Given the description of an element on the screen output the (x, y) to click on. 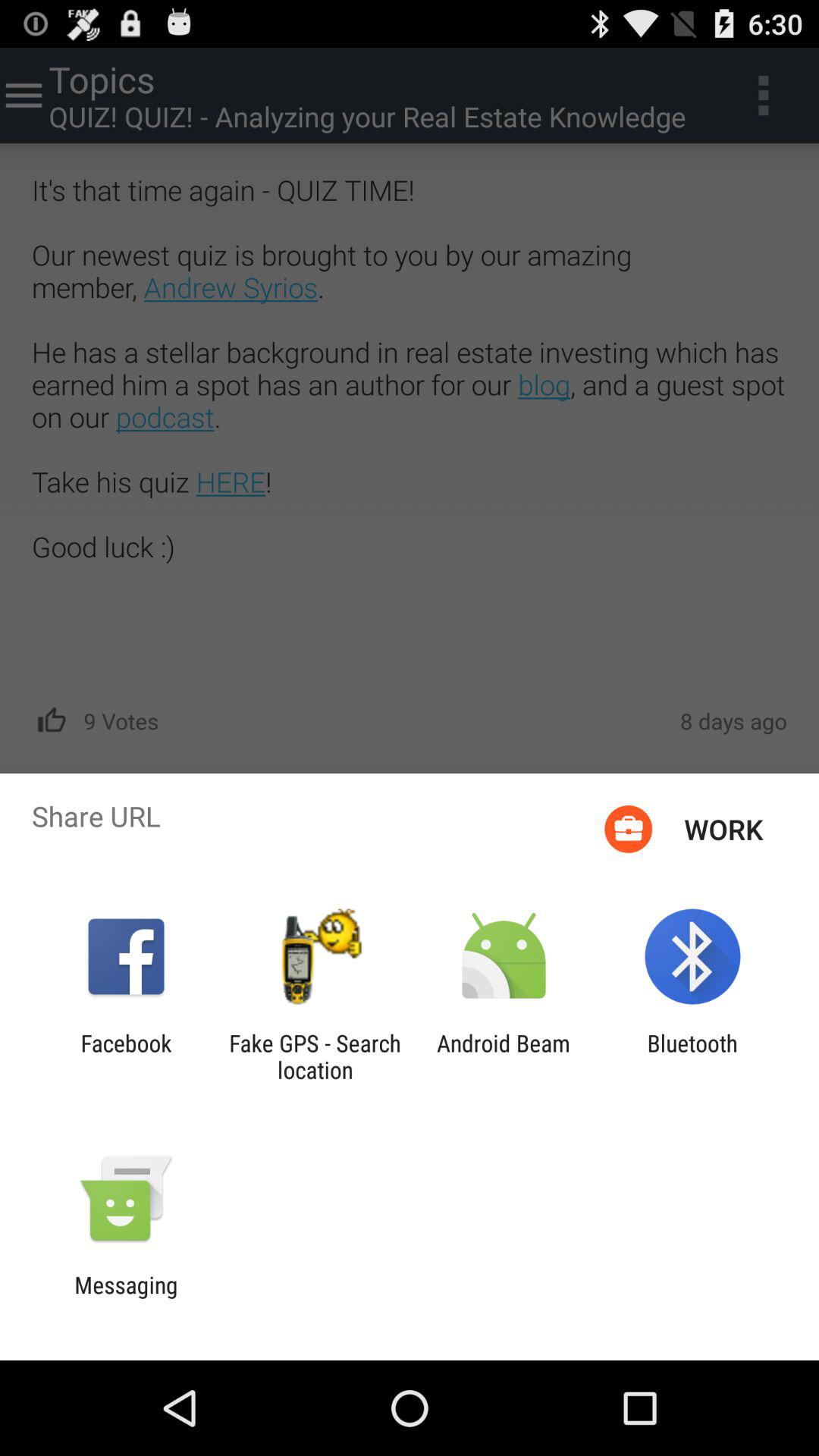
scroll to fake gps search app (314, 1056)
